Given the description of an element on the screen output the (x, y) to click on. 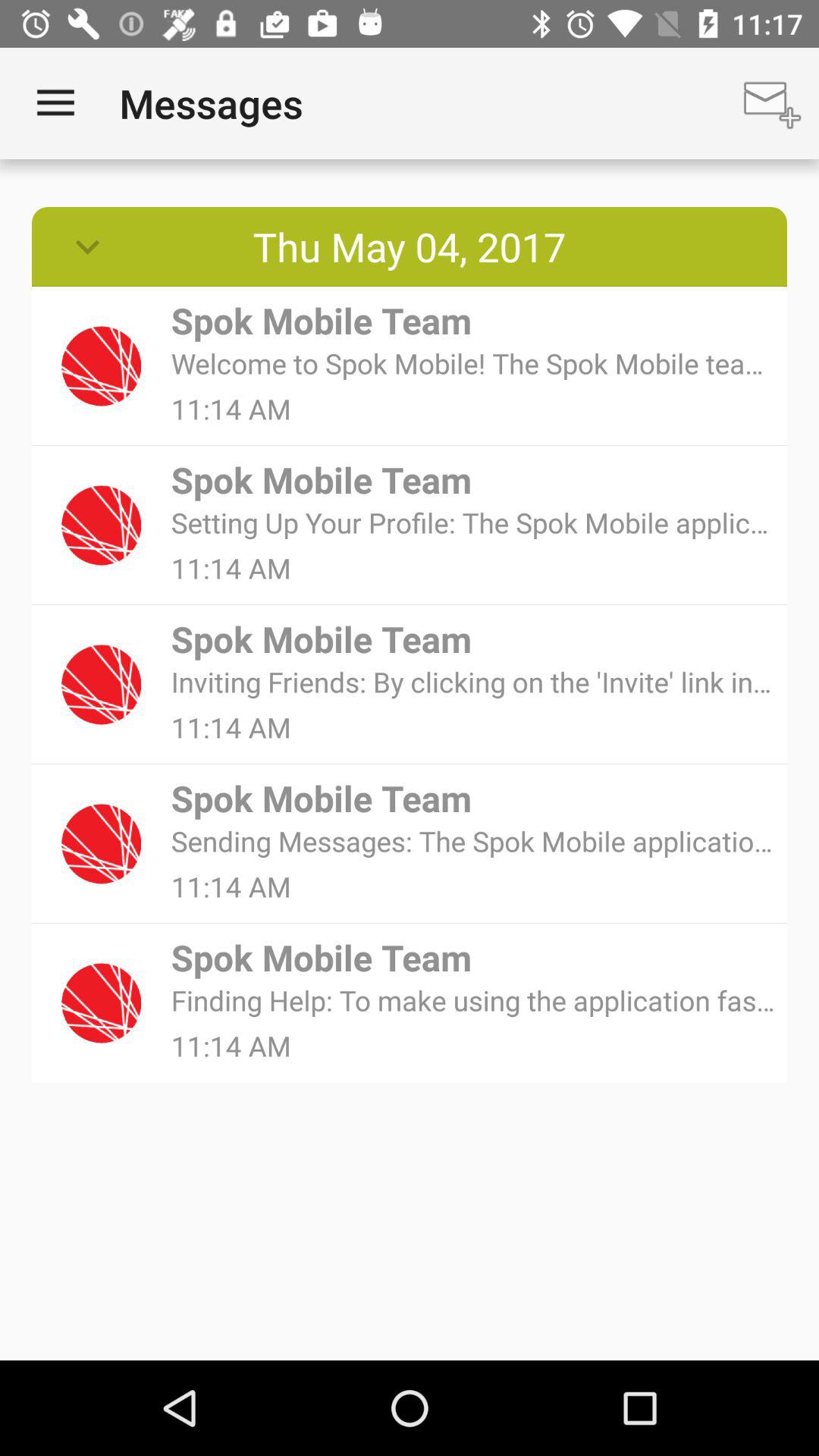
open the icon above thu may 04 item (55, 103)
